Given the description of an element on the screen output the (x, y) to click on. 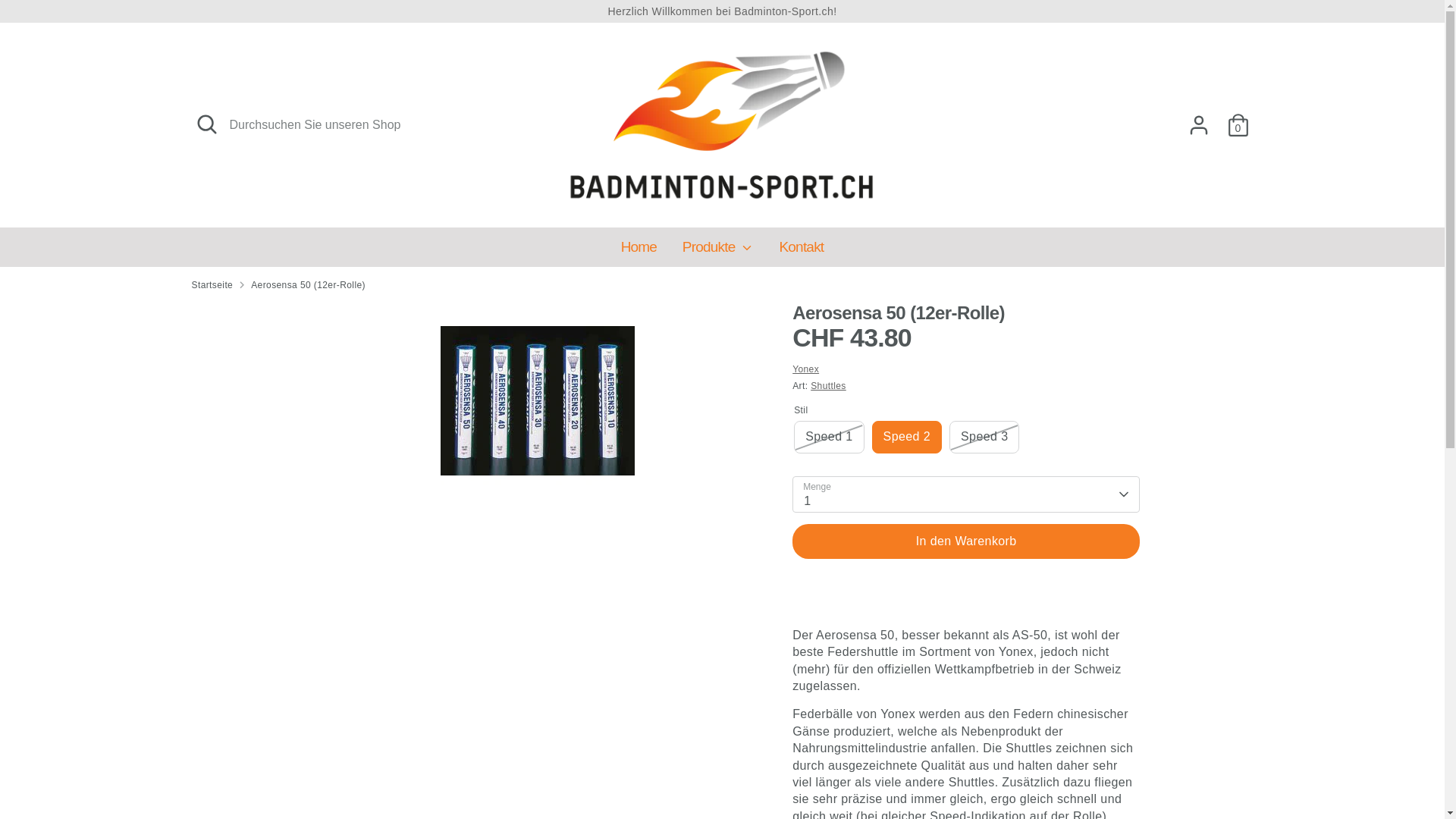
Home Element type: text (638, 251)
In den Warenkorb Element type: text (966, 541)
Yonex Element type: text (805, 369)
Startseite Element type: text (211, 285)
Kontakt Element type: text (800, 251)
Aerosensa 50 (12er-Rolle) Element type: text (308, 285)
0 Element type: text (1237, 124)
Shuttles Element type: text (828, 385)
1 Element type: text (965, 494)
Produkte Element type: text (718, 251)
